Given the description of an element on the screen output the (x, y) to click on. 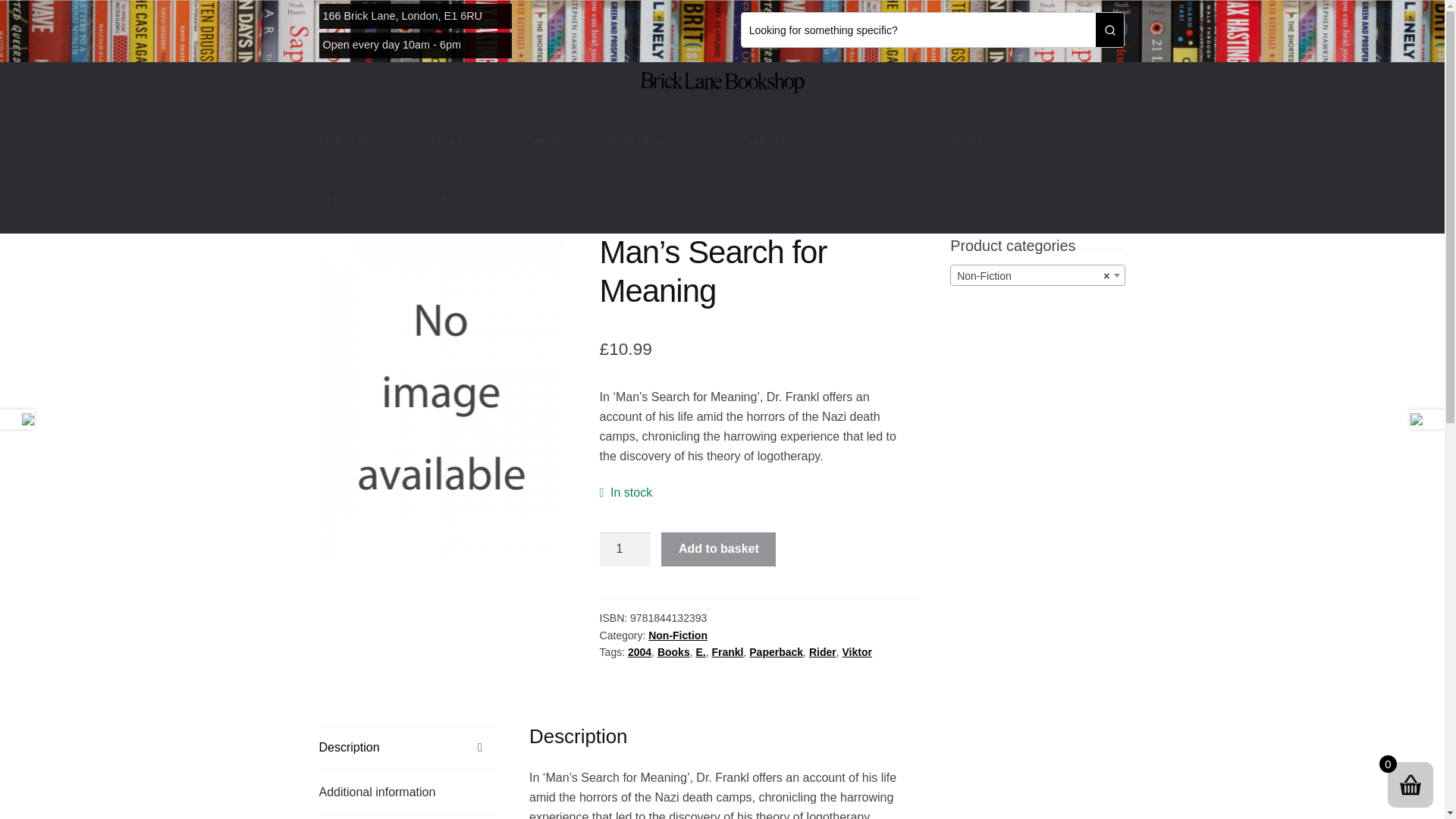
View your shopping basket (1037, 140)
1 (624, 549)
Looking for something specific? (918, 29)
Events (550, 140)
Looking for something specific? (918, 29)
Non-Fiction (1037, 275)
About Us (462, 140)
Podcast (771, 140)
Online Shop (360, 140)
Short Story Prize (658, 140)
